Given the description of an element on the screen output the (x, y) to click on. 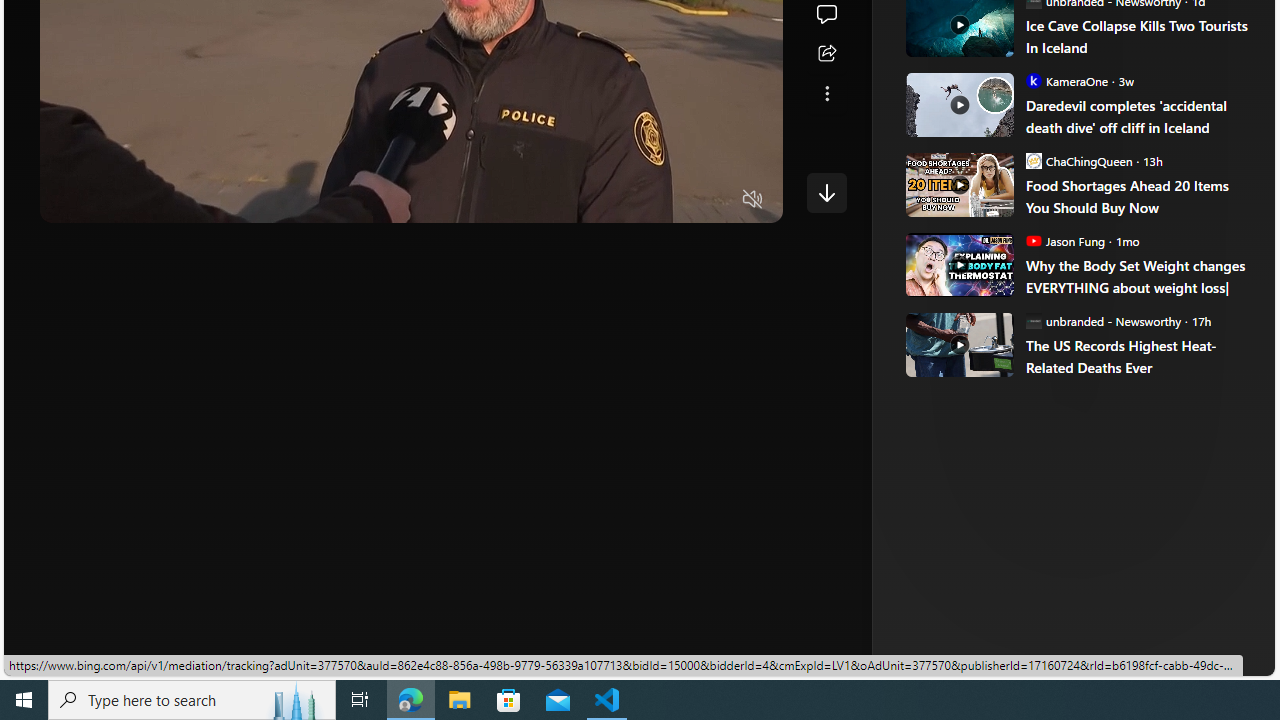
Quality Settings (634, 200)
Food Shortages Ahead 20 Items You Should Buy Now (958, 183)
Class: control (826, 192)
See more (826, 93)
Seek Back (109, 200)
Progress Bar (411, 174)
Share this story (826, 53)
Ice Cave Collapse Kills Two Tourists In Iceland (1136, 36)
KameraOne KameraOne (1066, 80)
ChaChingQueen ChaChingQueen (1078, 160)
KameraOne (1033, 80)
Captions (675, 200)
